Given the description of an element on the screen output the (x, y) to click on. 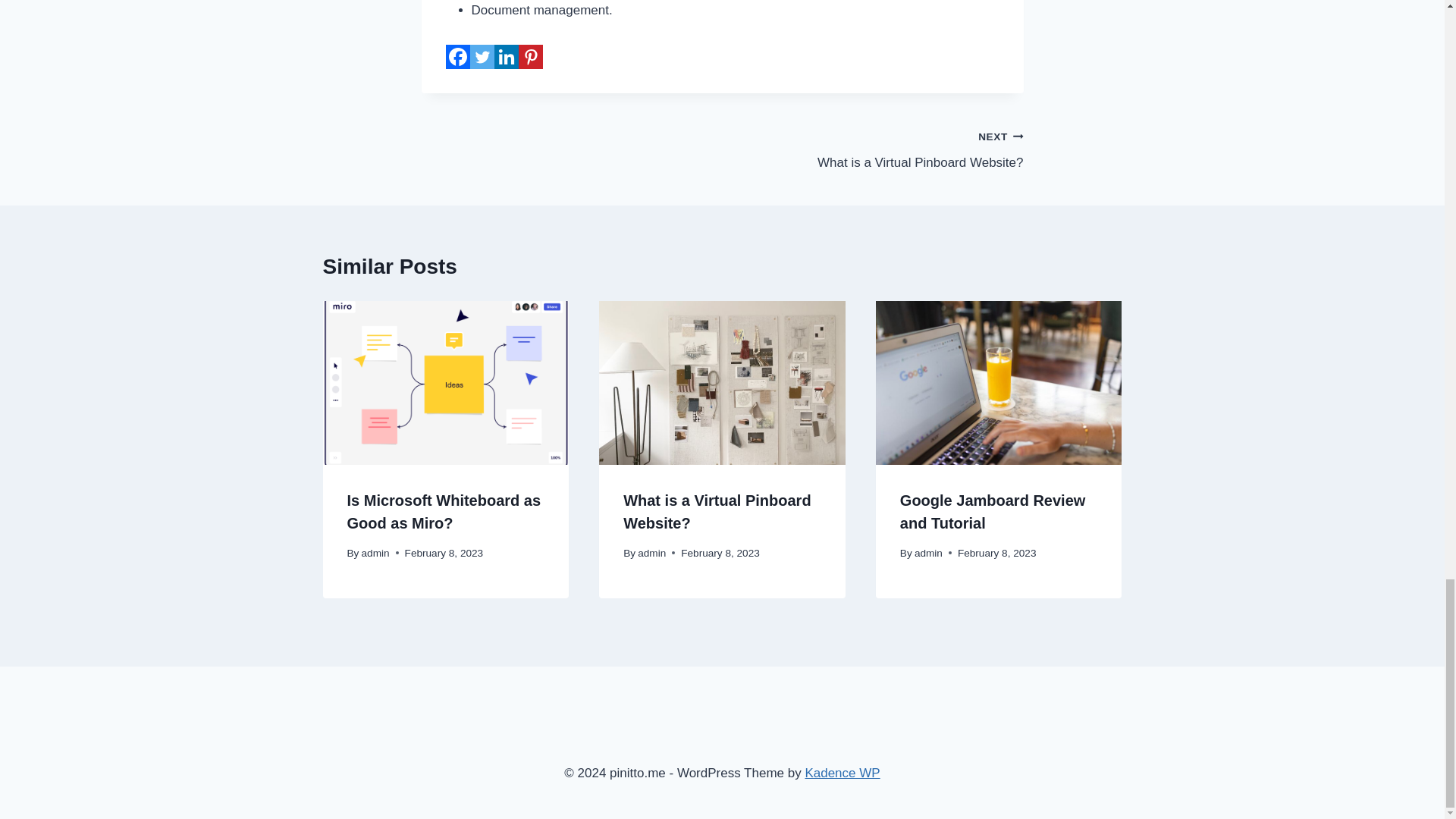
Facebook (457, 56)
Is Microsoft Whiteboard as Good as Miro? (444, 511)
admin (928, 552)
admin (651, 552)
admin (375, 552)
Pinterest (530, 56)
Twitter (482, 56)
Google Jamboard Review and Tutorial (992, 511)
Linkedin (506, 56)
What is a Virtual Pinboard Website? (872, 149)
